Given the description of an element on the screen output the (x, y) to click on. 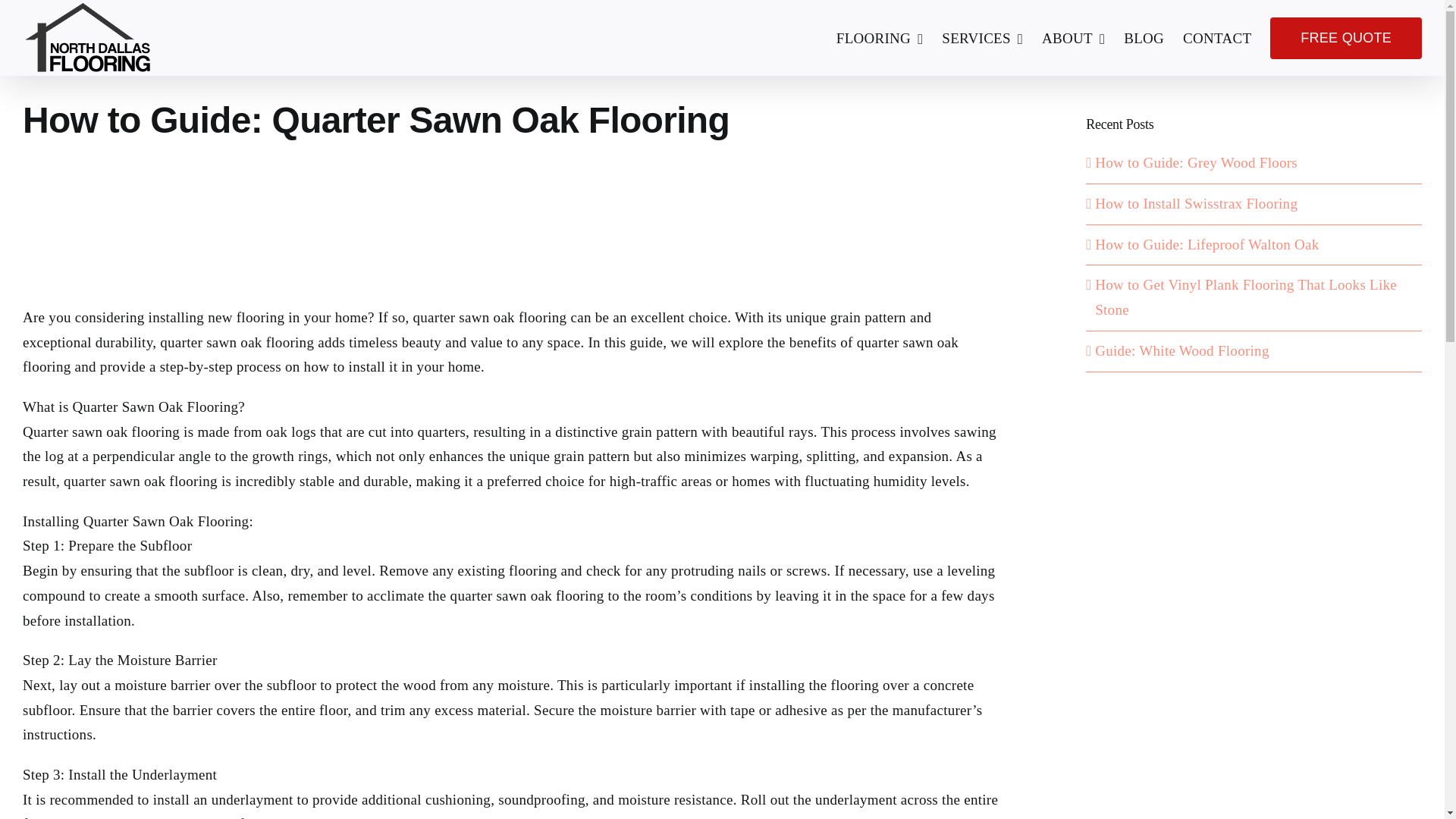
FLOORING (879, 38)
FREE QUOTE (1345, 38)
CONTACT (1216, 38)
SERVICES (982, 38)
